Given the description of an element on the screen output the (x, y) to click on. 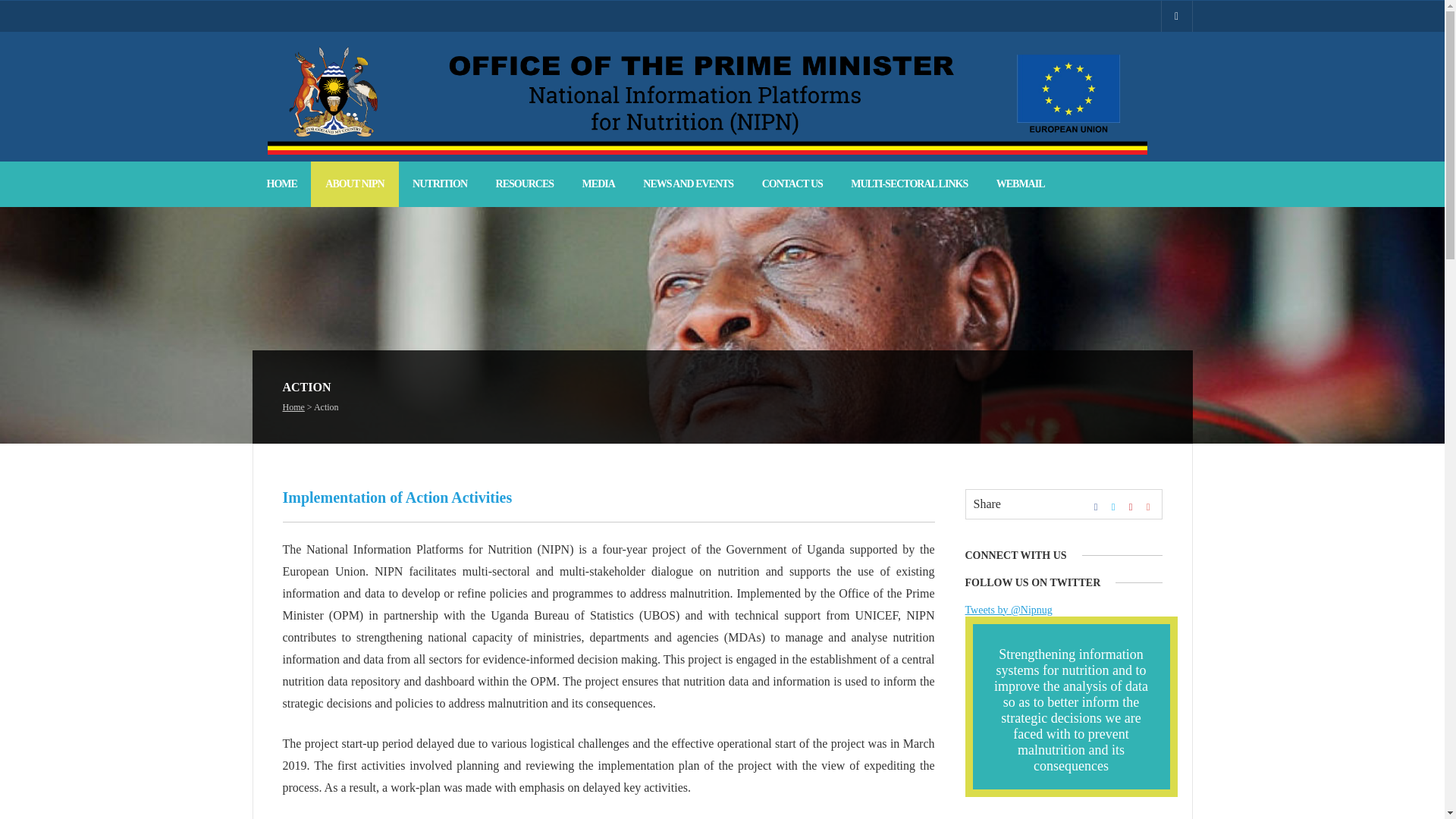
NEWS AND EVENTS (688, 184)
Search (22, 8)
HOME (281, 184)
WEBMAIL (1020, 184)
ABOUT NIPN (354, 184)
Home (293, 411)
MEDIA (597, 184)
MULTI-SECTORAL LINKS (908, 184)
NUTRITION (439, 184)
CONTACT US (792, 184)
RESOURCES (525, 184)
